Given the description of an element on the screen output the (x, y) to click on. 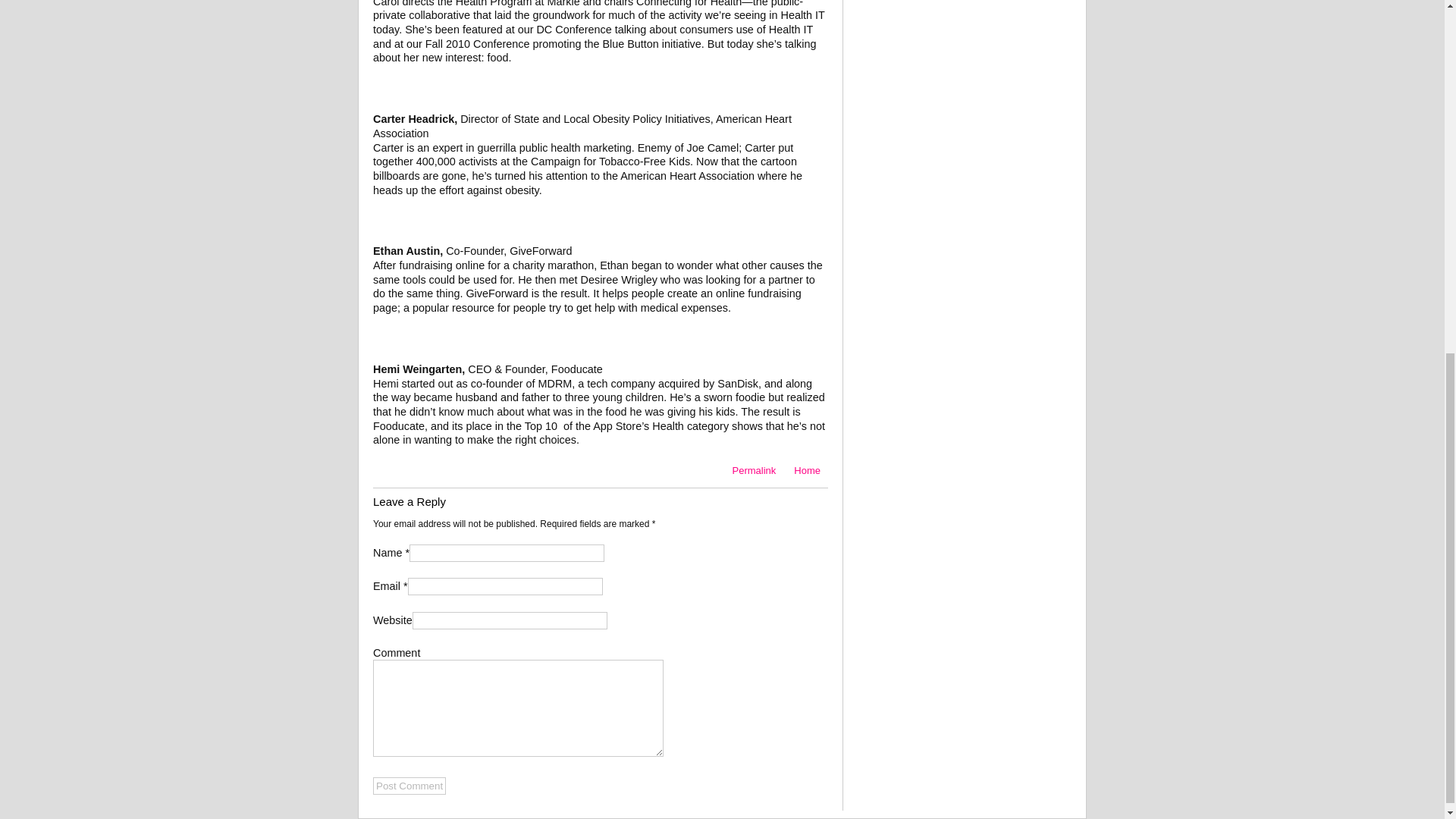
Post Comment (408, 785)
Home (807, 470)
Post Comment (408, 785)
Permalink (754, 470)
Health 2.0 News (807, 470)
